Given the description of an element on the screen output the (x, y) to click on. 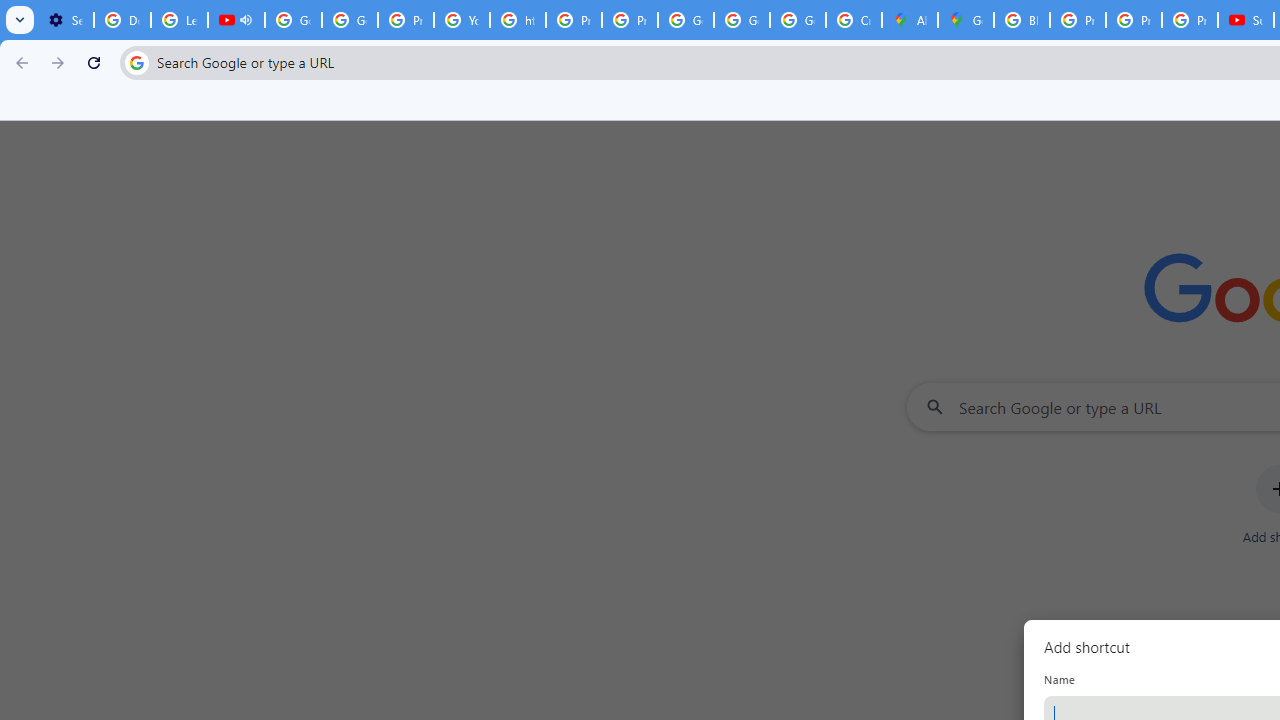
https://scholar.google.com/ (518, 20)
YouTube (461, 20)
Settings - Customize profile (65, 20)
Privacy Help Center - Policies Help (1133, 20)
Google Maps (966, 20)
Privacy Help Center - Policies Help (573, 20)
